Given the description of an element on the screen output the (x, y) to click on. 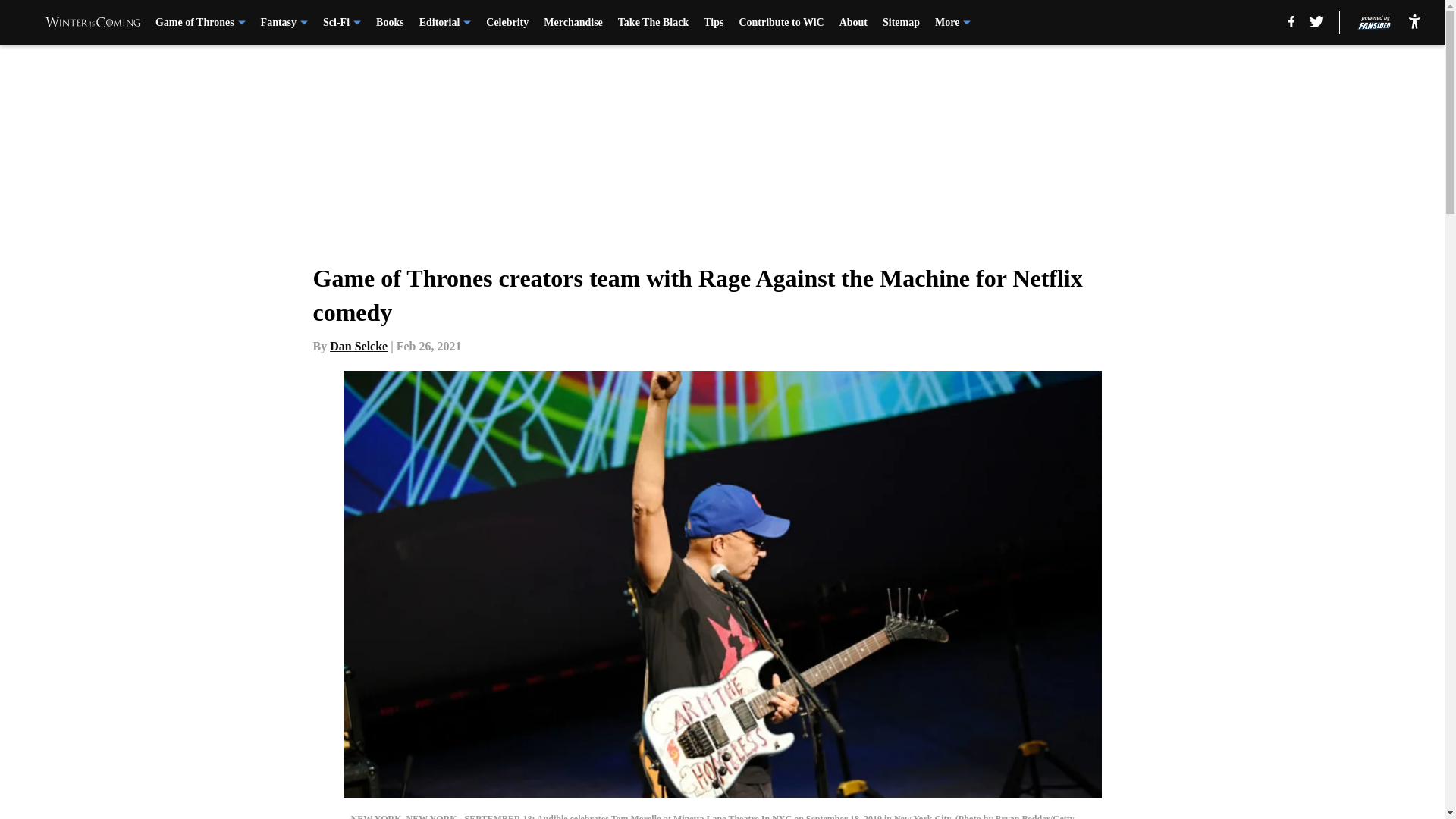
Editorial (445, 22)
Game of Thrones (200, 22)
Fantasy (283, 22)
Sci-Fi (342, 22)
Books (389, 22)
